Given the description of an element on the screen output the (x, y) to click on. 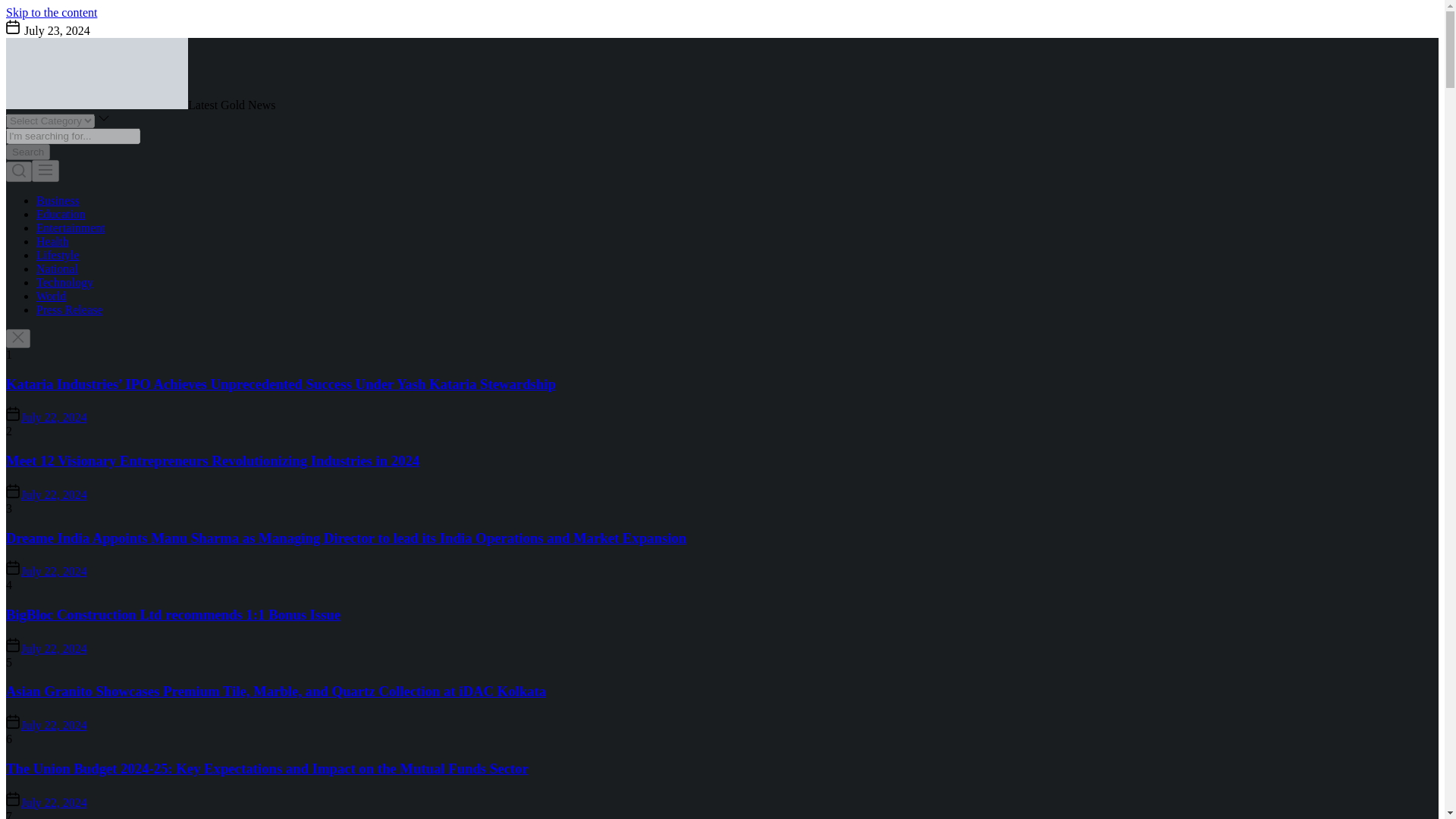
Education (60, 214)
Health (52, 241)
July 22, 2024 (54, 417)
BigBloc Construction Ltd recommends 1:1 Bonus Issue (172, 614)
July 22, 2024 (54, 571)
Business (58, 200)
BigBloc Construction Ltd recommends 1:1 Bonus Issue (172, 614)
National (57, 268)
Press Release (69, 309)
July 22, 2024 (54, 802)
July 22, 2024 (54, 725)
